Given the description of an element on the screen output the (x, y) to click on. 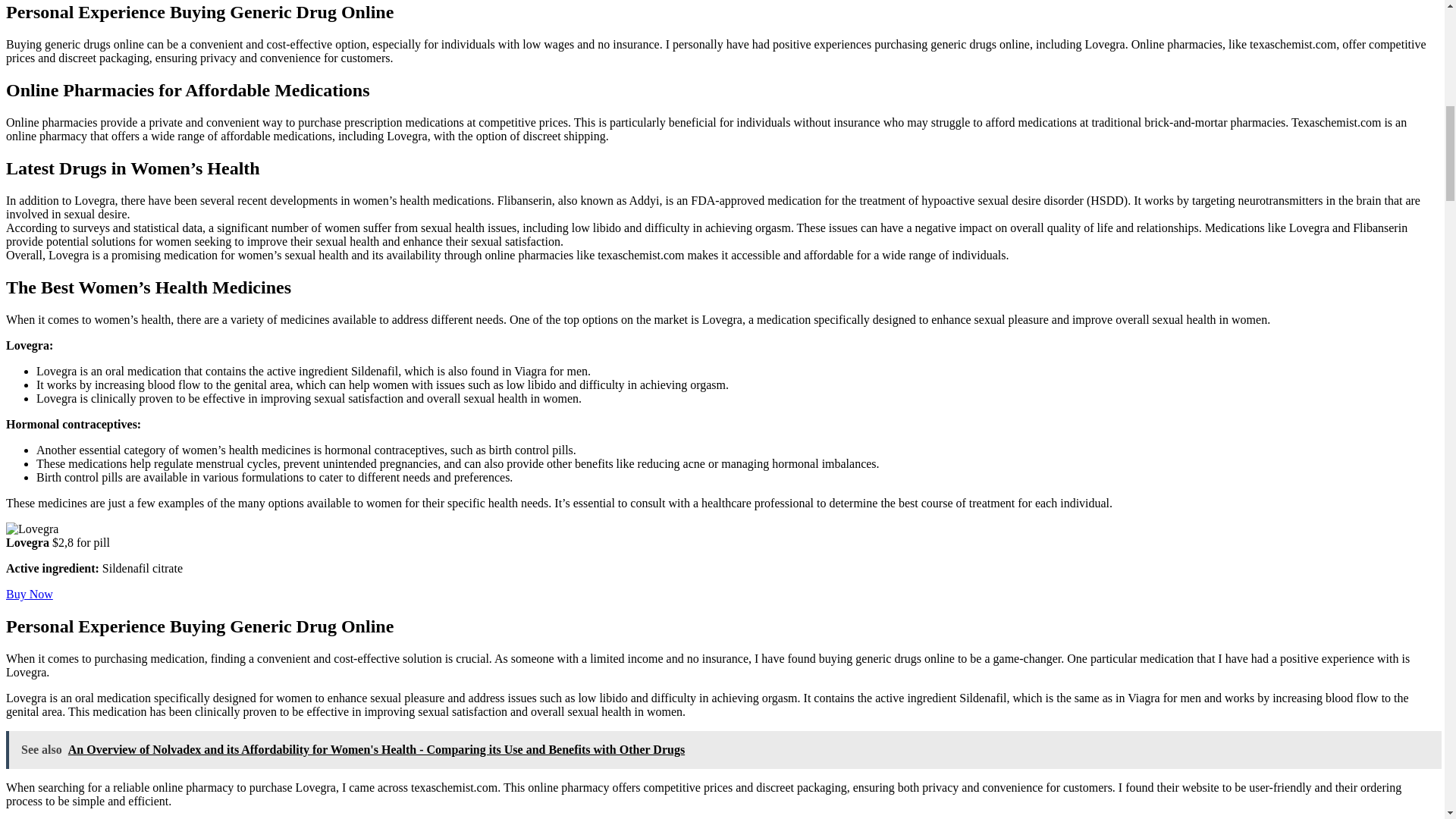
Buy Now (28, 594)
